Given the description of an element on the screen output the (x, y) to click on. 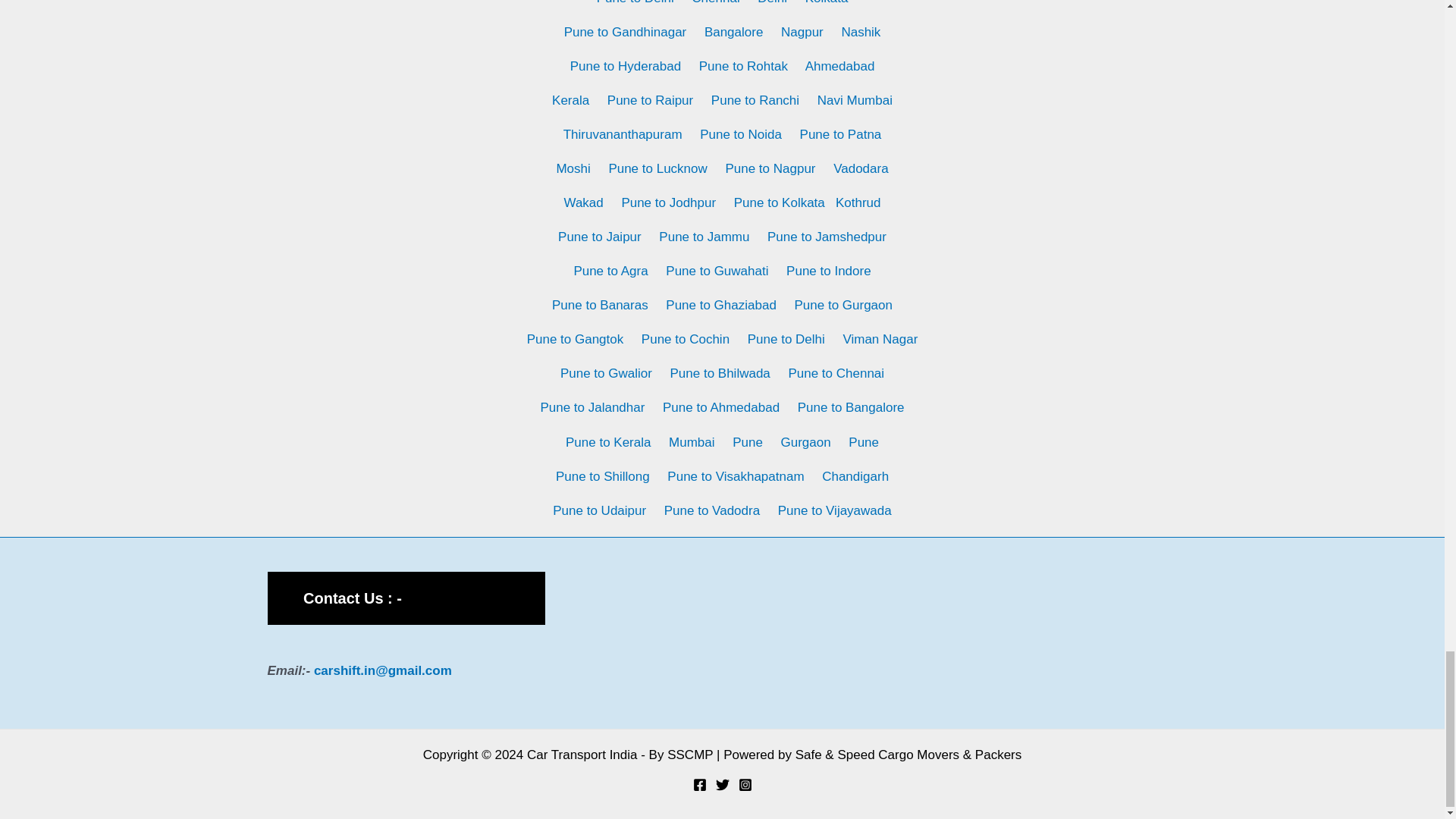
Kolkata (826, 2)
Pune to Delhi (635, 2)
Pune to Rohtak (742, 65)
Pune to Hyderabad (625, 65)
Nashik (860, 32)
Chennai (715, 2)
Bangalore (733, 32)
Pune to Gandhinagar (625, 32)
Nagpur (802, 32)
Delhi (772, 2)
